Given the description of an element on the screen output the (x, y) to click on. 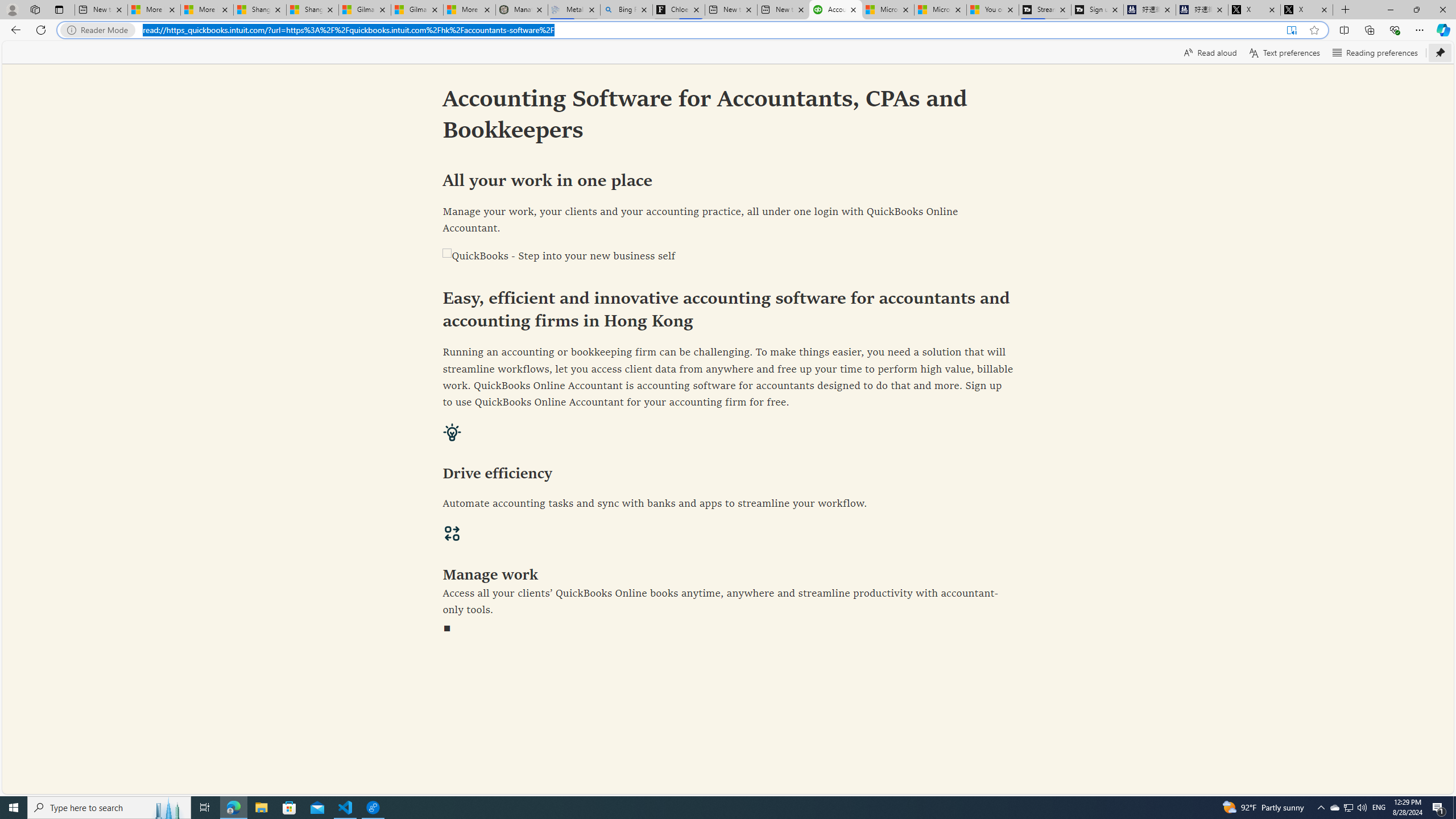
Reading preferences (1374, 52)
Text preferences (1283, 52)
Bing Real Estate - Home sales and rental listings (626, 9)
Manatee Mortality Statistics | FWC (521, 9)
Shanghai, China weather forecast | Microsoft Weather (312, 9)
QuickBooks - Step into your new business self (727, 256)
